Given the description of an element on the screen output the (x, y) to click on. 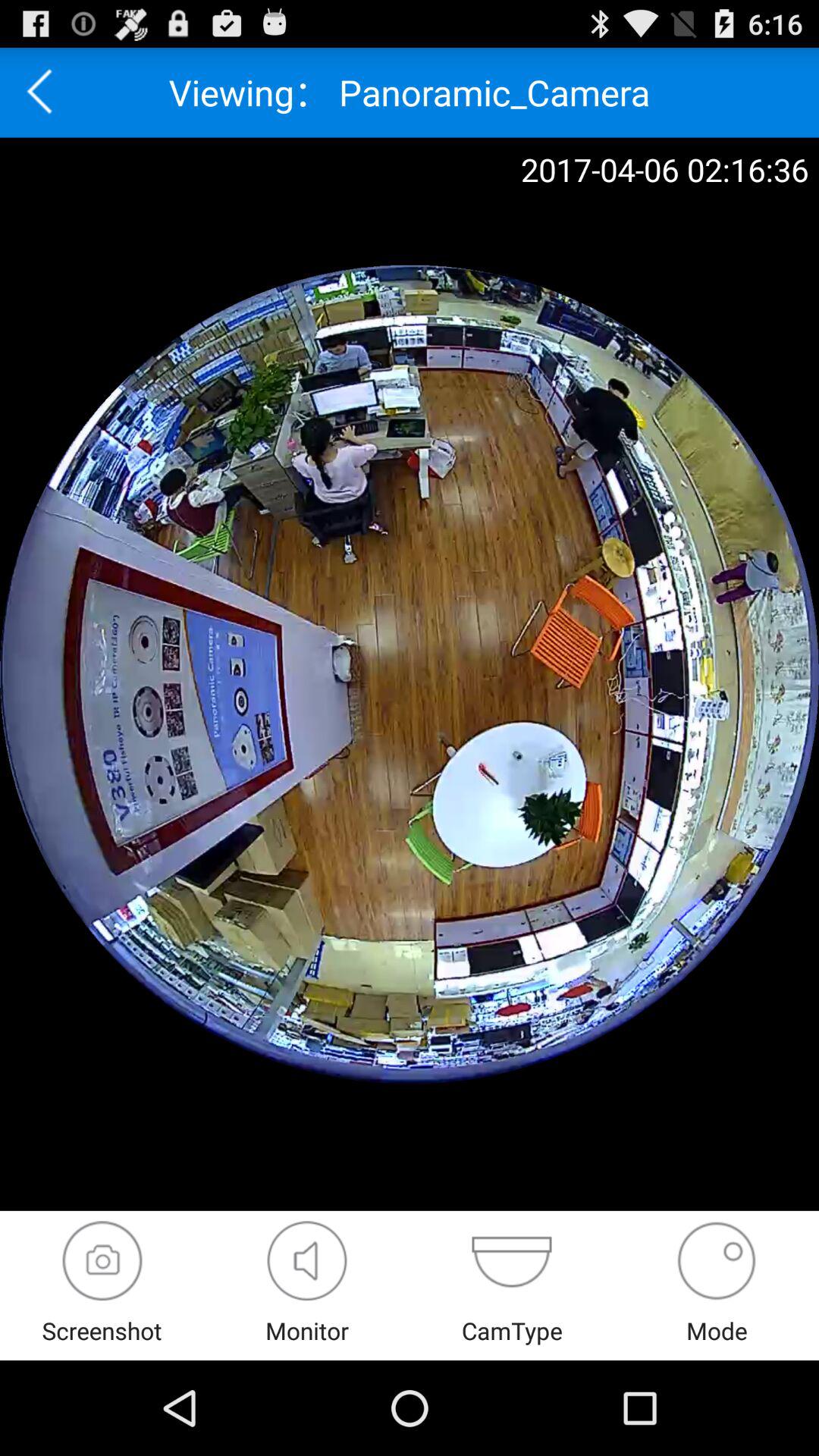
go to camera type selection (511, 1260)
